Given the description of an element on the screen output the (x, y) to click on. 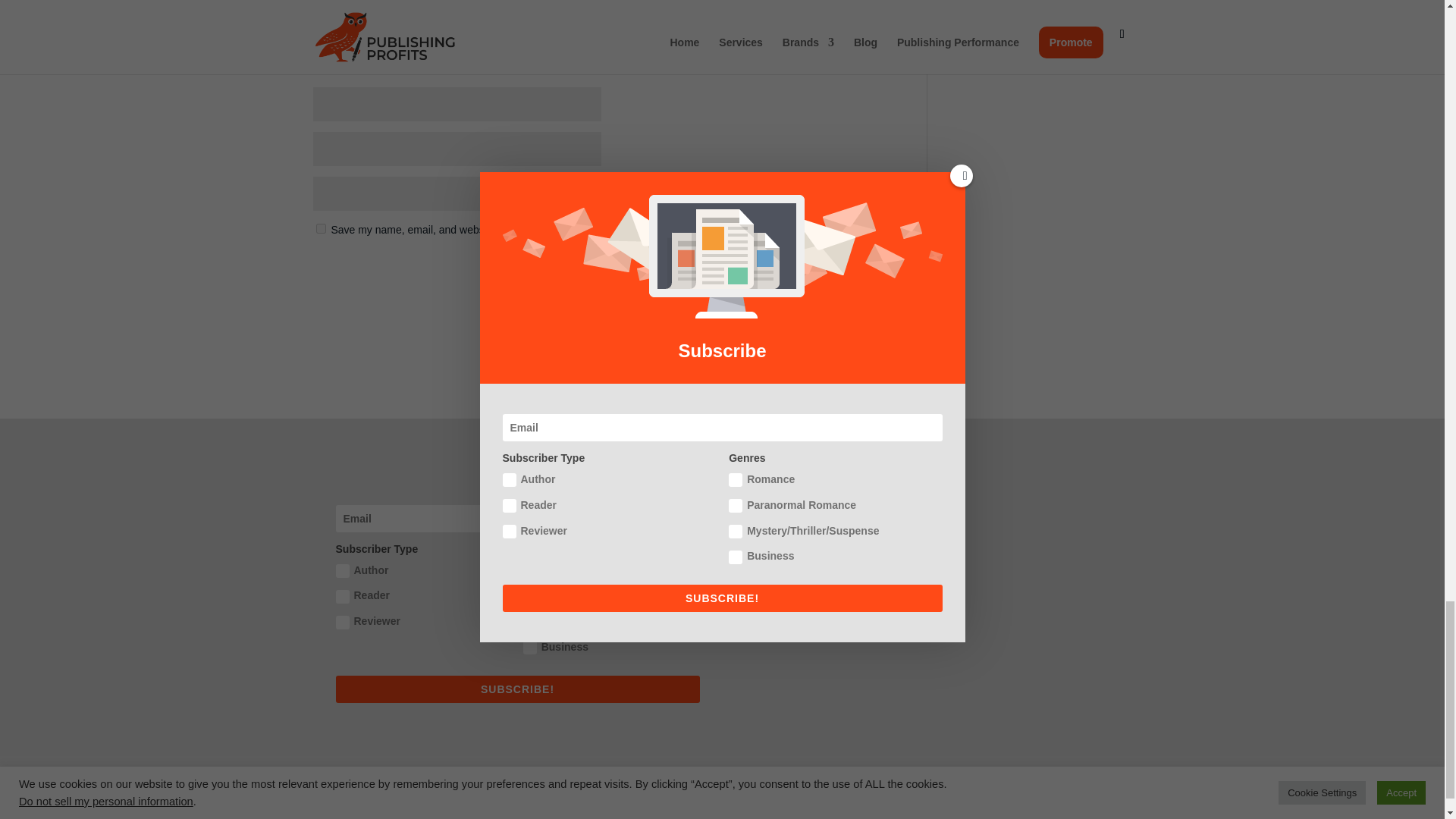
Submit Comment (847, 269)
SUBSCRIBE! (516, 688)
Submit Comment (847, 269)
Privacy Policy (348, 775)
yes (319, 228)
